Given the description of an element on the screen output the (x, y) to click on. 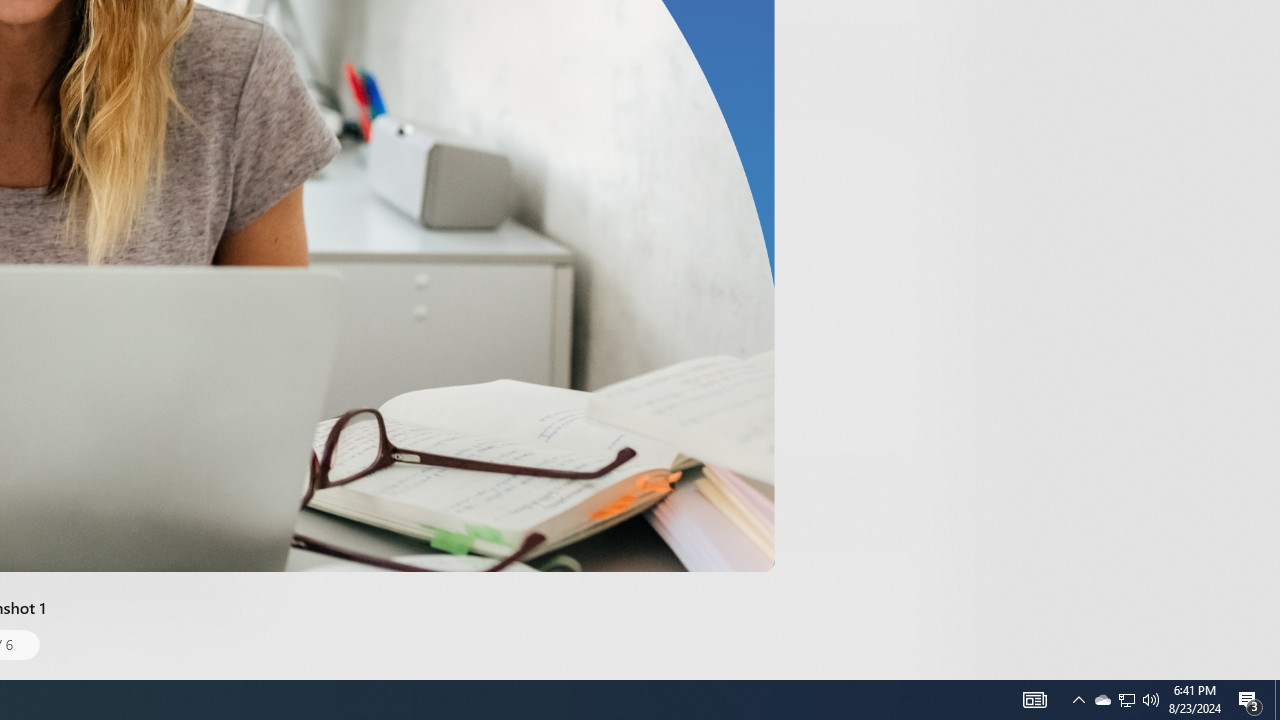
Show all ratings and reviews (924, 97)
